Given the description of an element on the screen output the (x, y) to click on. 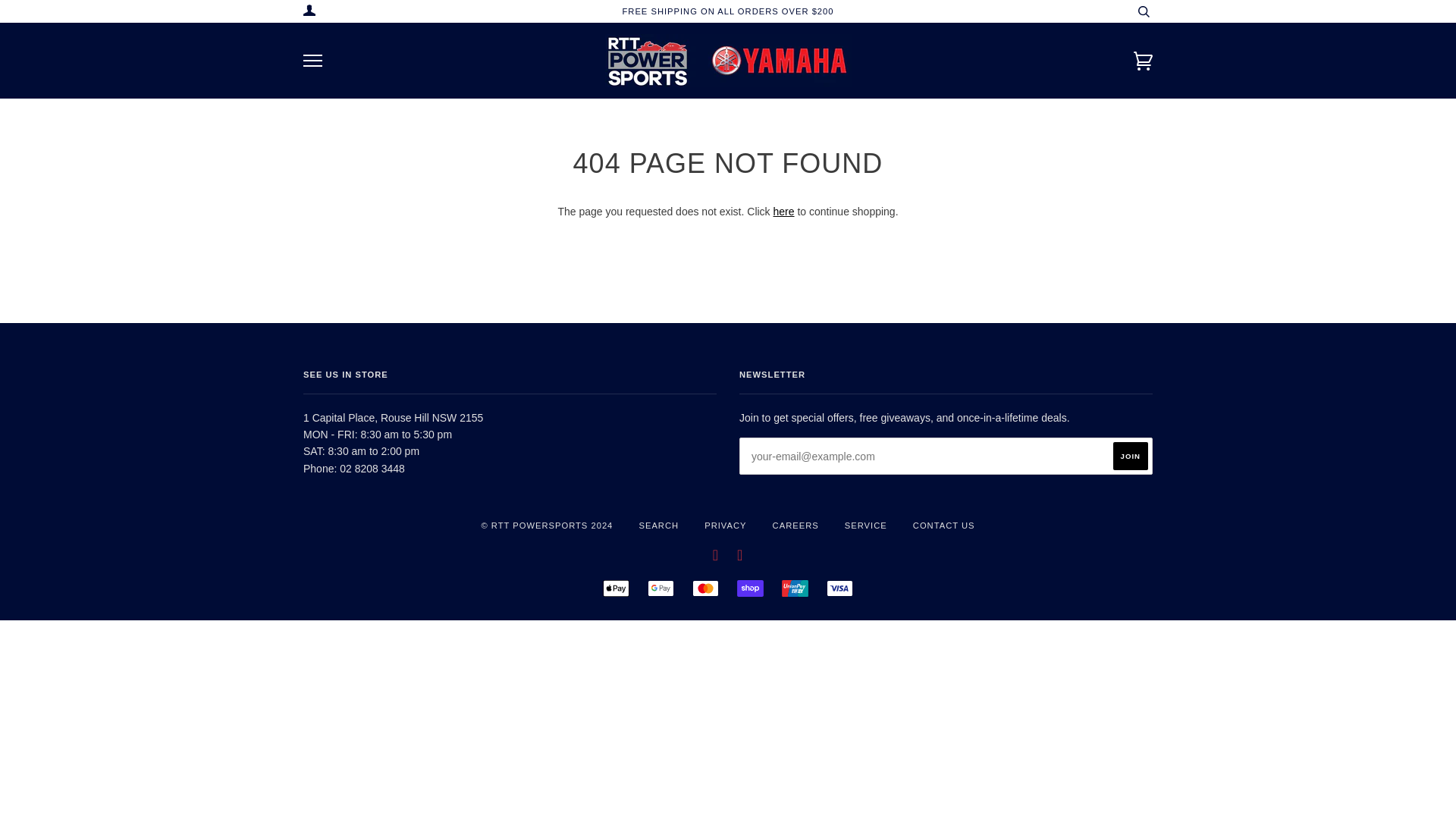
Search (1143, 11)
GOOGLE PAY (660, 588)
UNION PAY (794, 588)
APPLE PAY (615, 588)
SHOP PAY (749, 588)
VISA (840, 588)
Join (1130, 456)
RTT Powersports on Facebook (716, 556)
MASTERCARD (706, 588)
RTT Powersports on Instagram (739, 556)
